Given the description of an element on the screen output the (x, y) to click on. 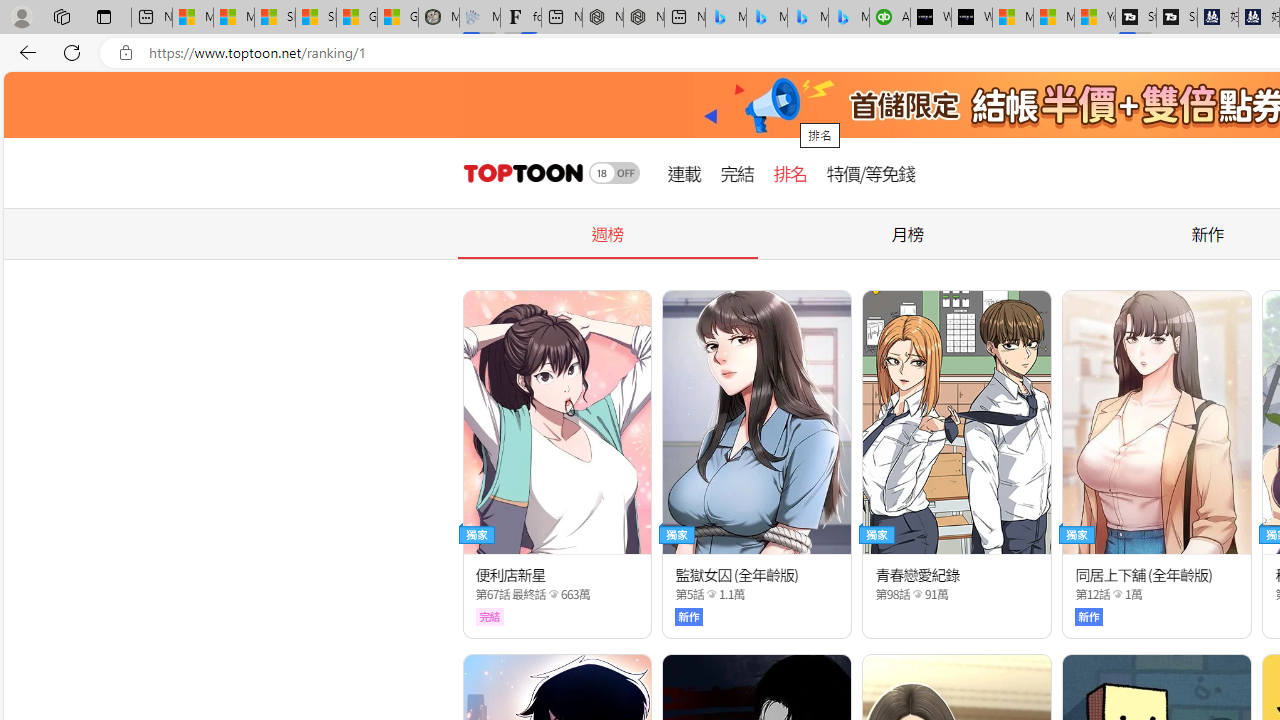
Accounting Software for Accountants, CPAs and Bookkeepers (890, 17)
